Given the description of an element on the screen output the (x, y) to click on. 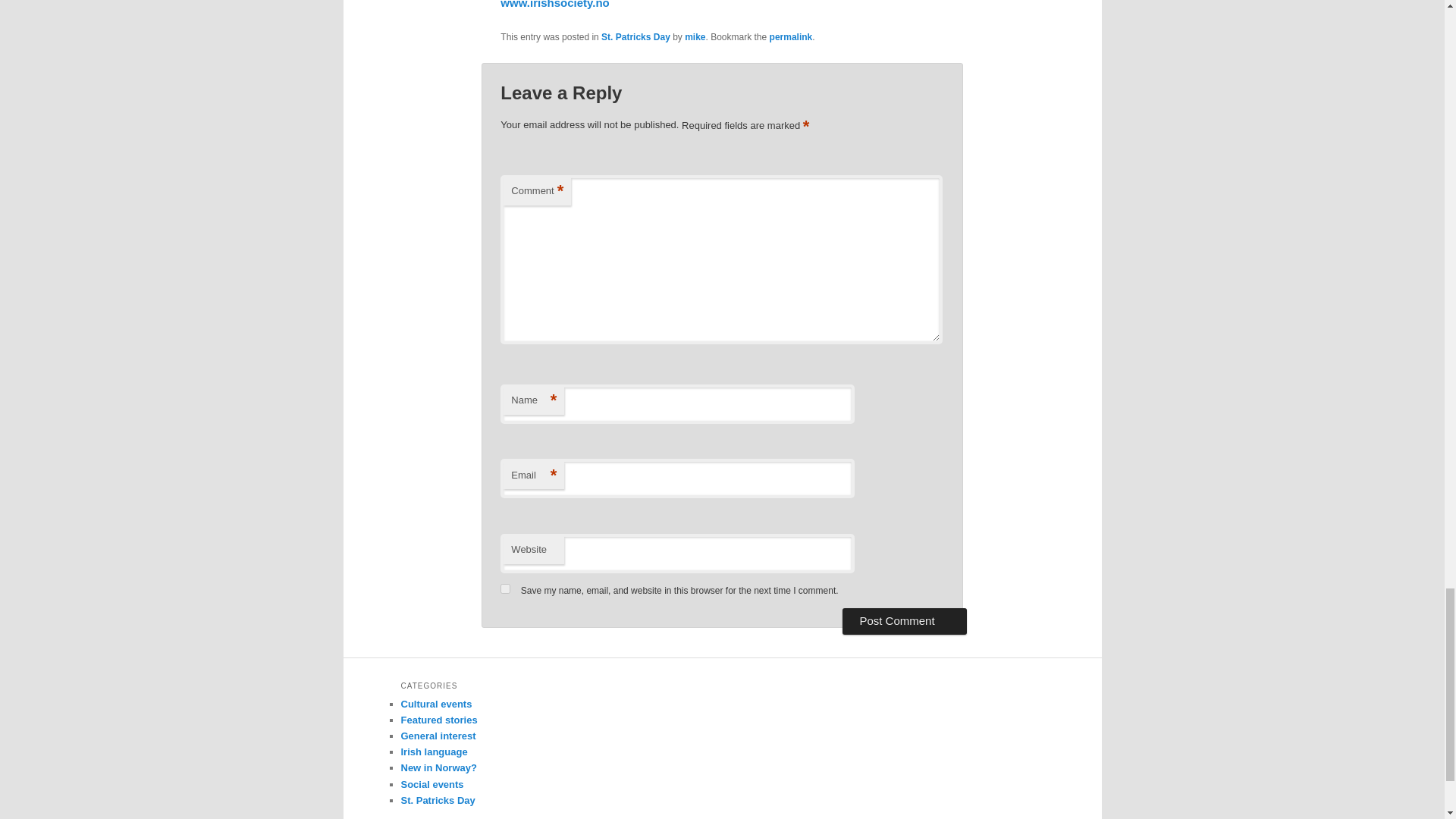
Post Comment (904, 620)
permalink (791, 36)
mike (694, 36)
St. Patricks Day (635, 36)
Post Comment (904, 620)
General interest (438, 736)
yes (505, 588)
Cultural events (435, 704)
Featured stories (438, 719)
www.irishsociety.no (554, 4)
